Given the description of an element on the screen output the (x, y) to click on. 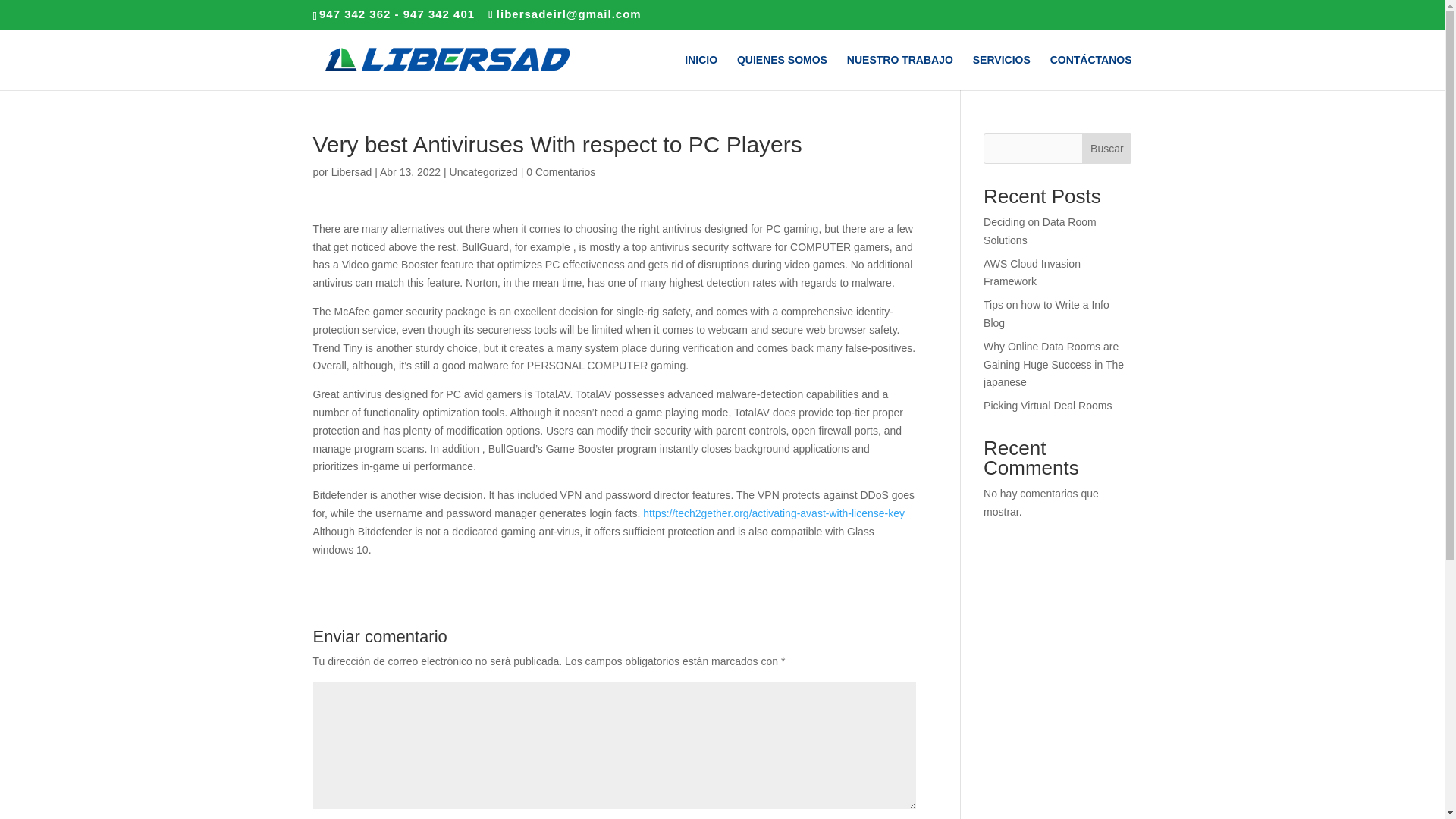
QUIENES SOMOS (781, 72)
Tips on how to Write a Info Blog (1046, 313)
Uncategorized (483, 172)
NUESTRO TRABAJO (900, 72)
Deciding on Data Room Solutions (1040, 231)
Buscar (1106, 148)
Mensajes de Libersad (351, 172)
Libersad (351, 172)
Picking Virtual Deal Rooms (1048, 405)
